Given the description of an element on the screen output the (x, y) to click on. 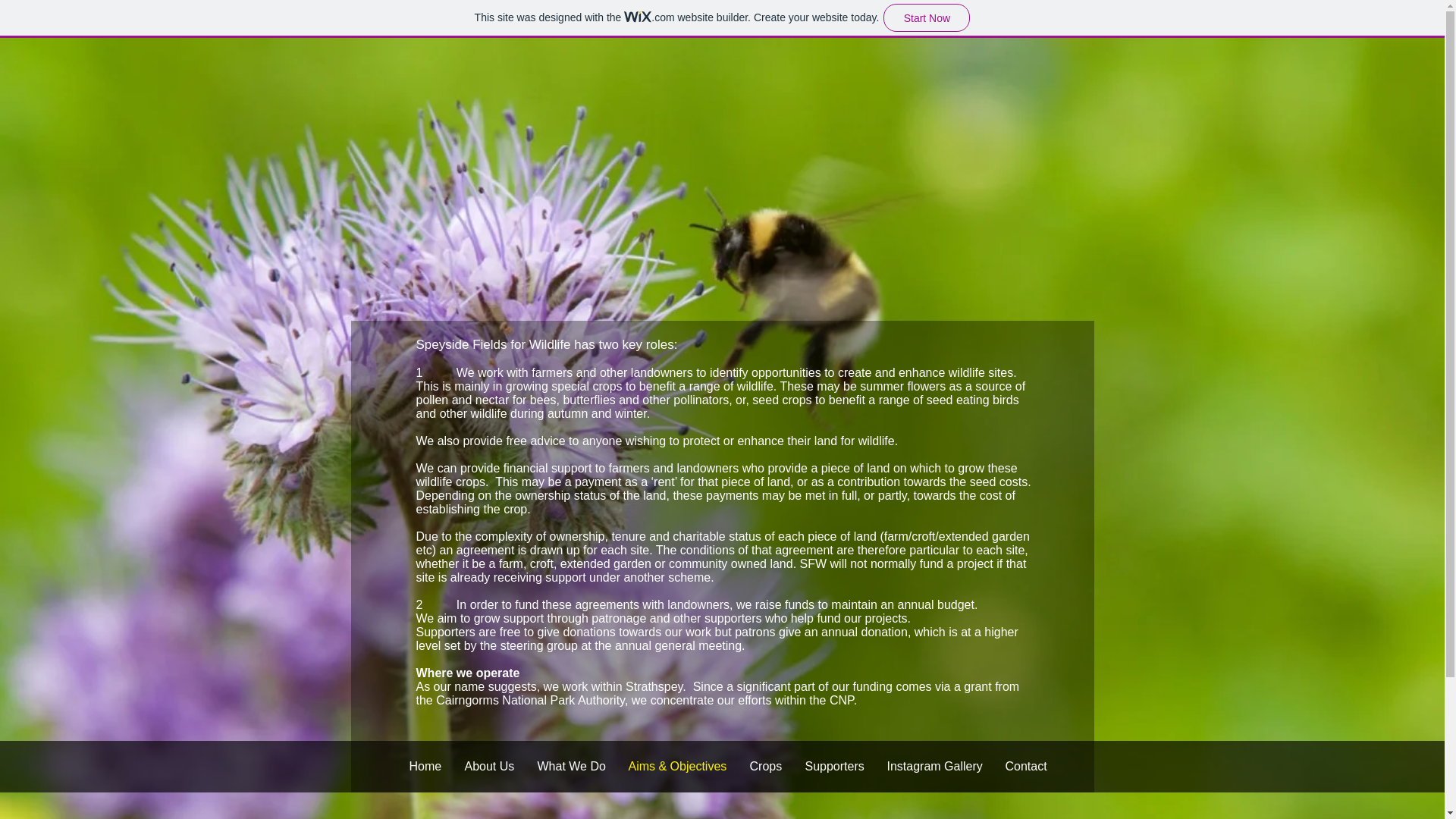
Crops (765, 765)
Contact (1025, 765)
About Us (488, 765)
Supporters (834, 765)
Instagram Gallery (933, 765)
Home (424, 765)
What We Do (571, 765)
